Given the description of an element on the screen output the (x, y) to click on. 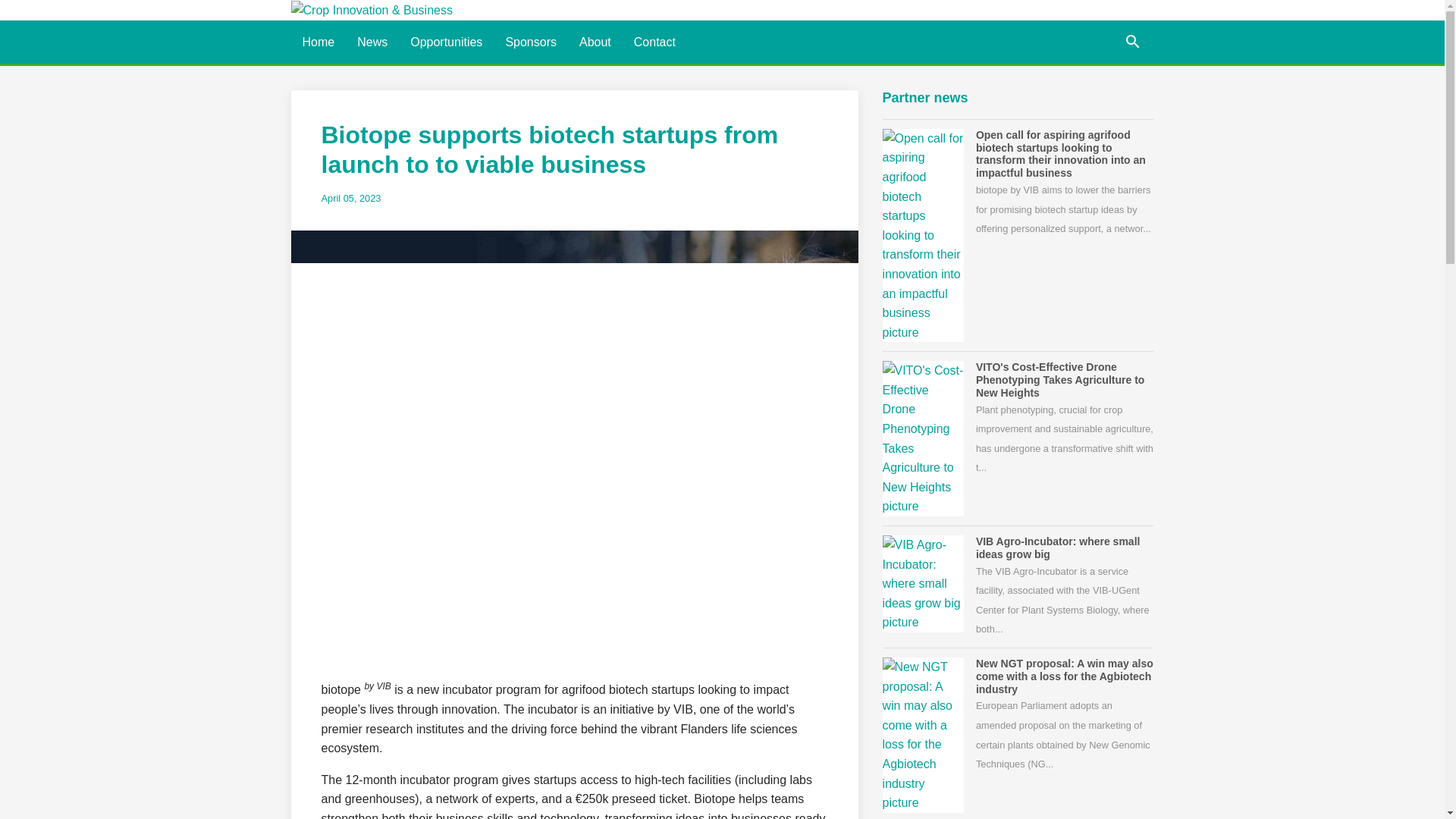
Sponsors (530, 42)
News (372, 42)
About (595, 42)
VIB Agro-Incubator: where small ideas grow big (1057, 547)
Home (318, 42)
Contact (655, 42)
Opportunities (445, 42)
